Given the description of an element on the screen output the (x, y) to click on. 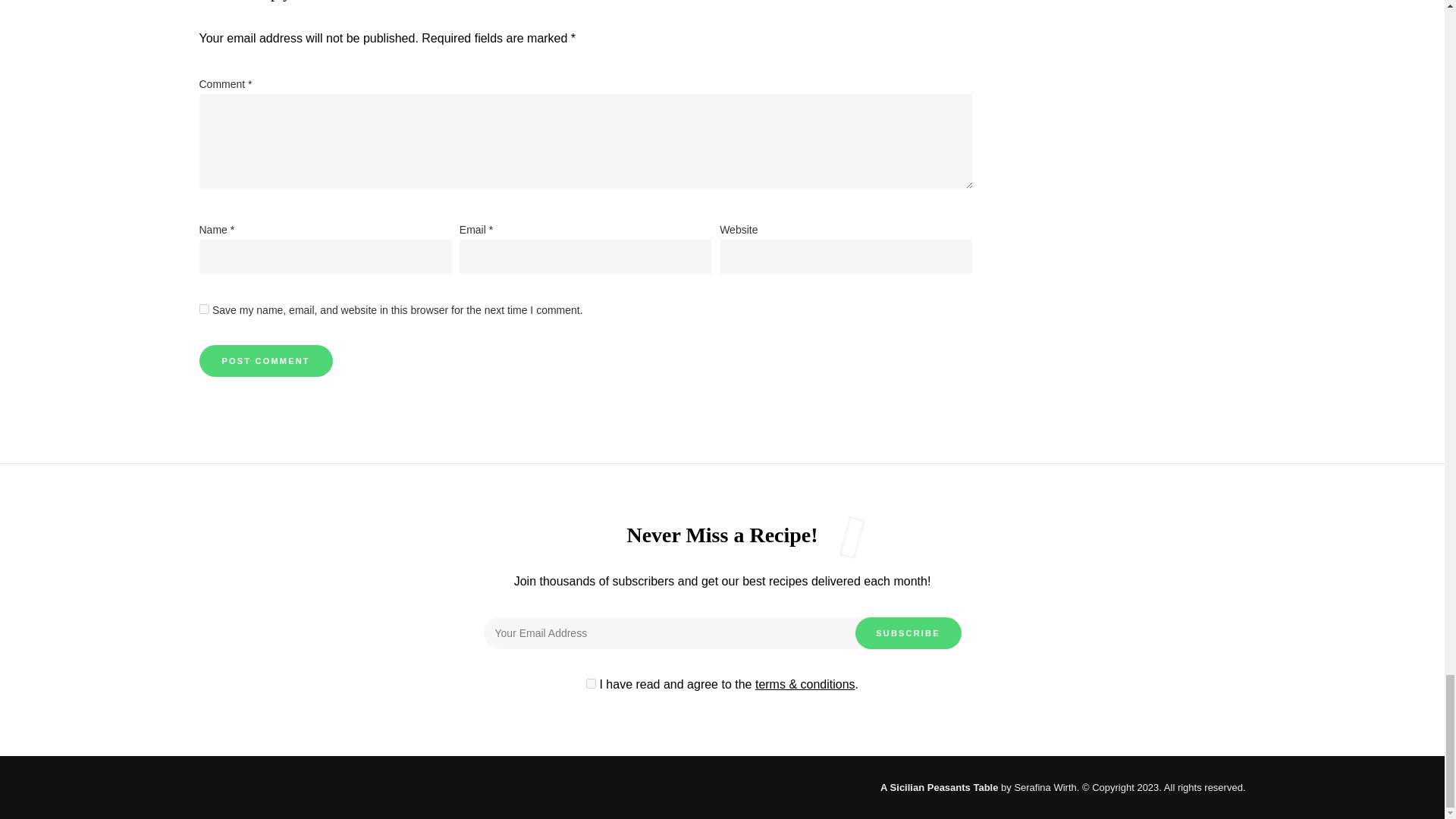
Post Comment (264, 360)
yes (203, 308)
Subscribe (908, 633)
1 (590, 683)
